Given the description of an element on the screen output the (x, y) to click on. 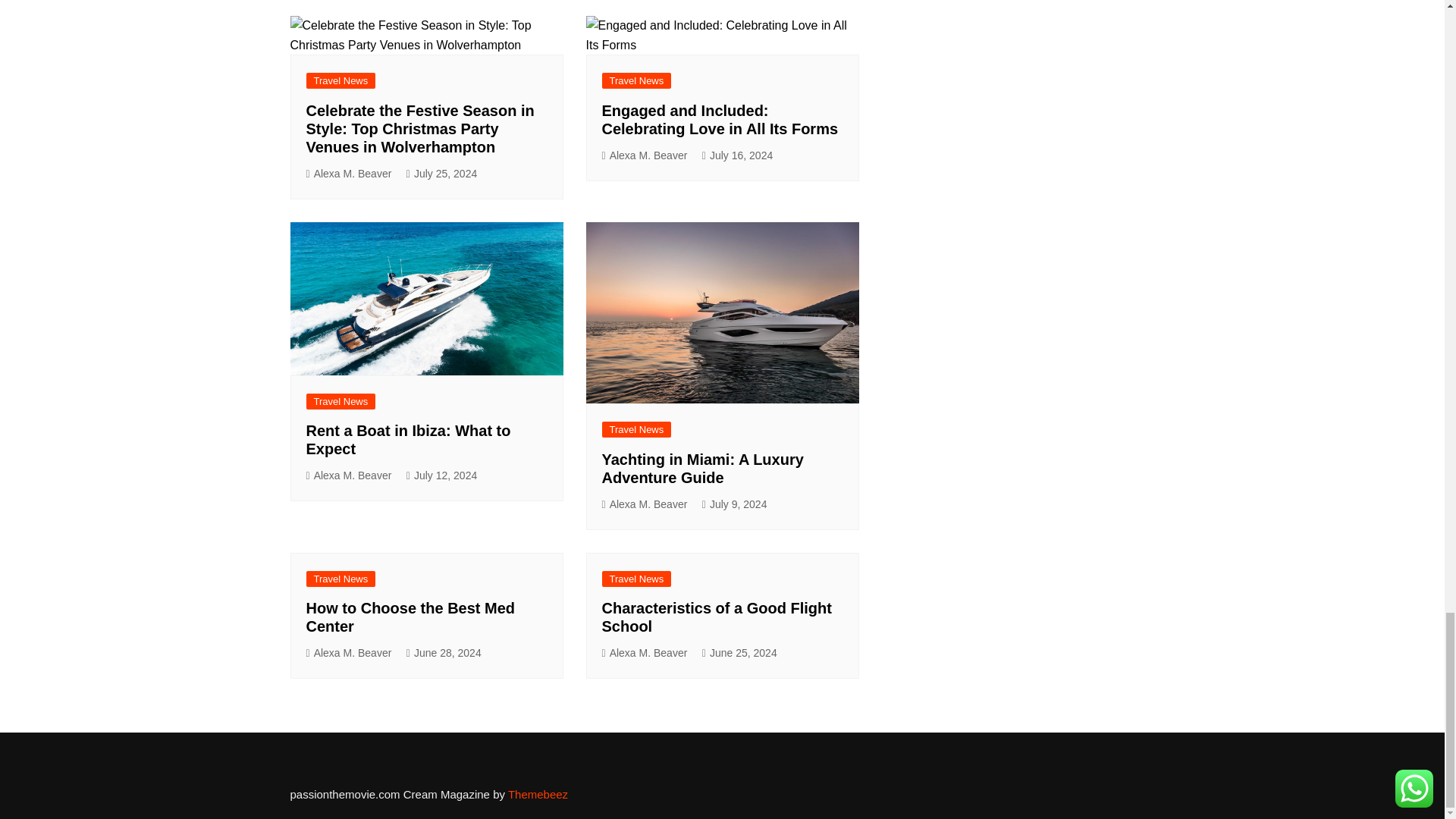
Travel News (636, 80)
Yachting in Miami: A Luxury Adventure Guide (722, 312)
Travel News (340, 80)
Engaged and Included: Celebrating Love in All Its Forms (720, 119)
Alexa M. Beaver (644, 155)
July 16, 2024 (737, 155)
Alexa M. Beaver (348, 173)
July 25, 2024 (441, 173)
Engaged and Included: Celebrating Love in All Its Forms (722, 34)
Rent a Boat in Ibiza: What to Expect (425, 298)
